Given the description of an element on the screen output the (x, y) to click on. 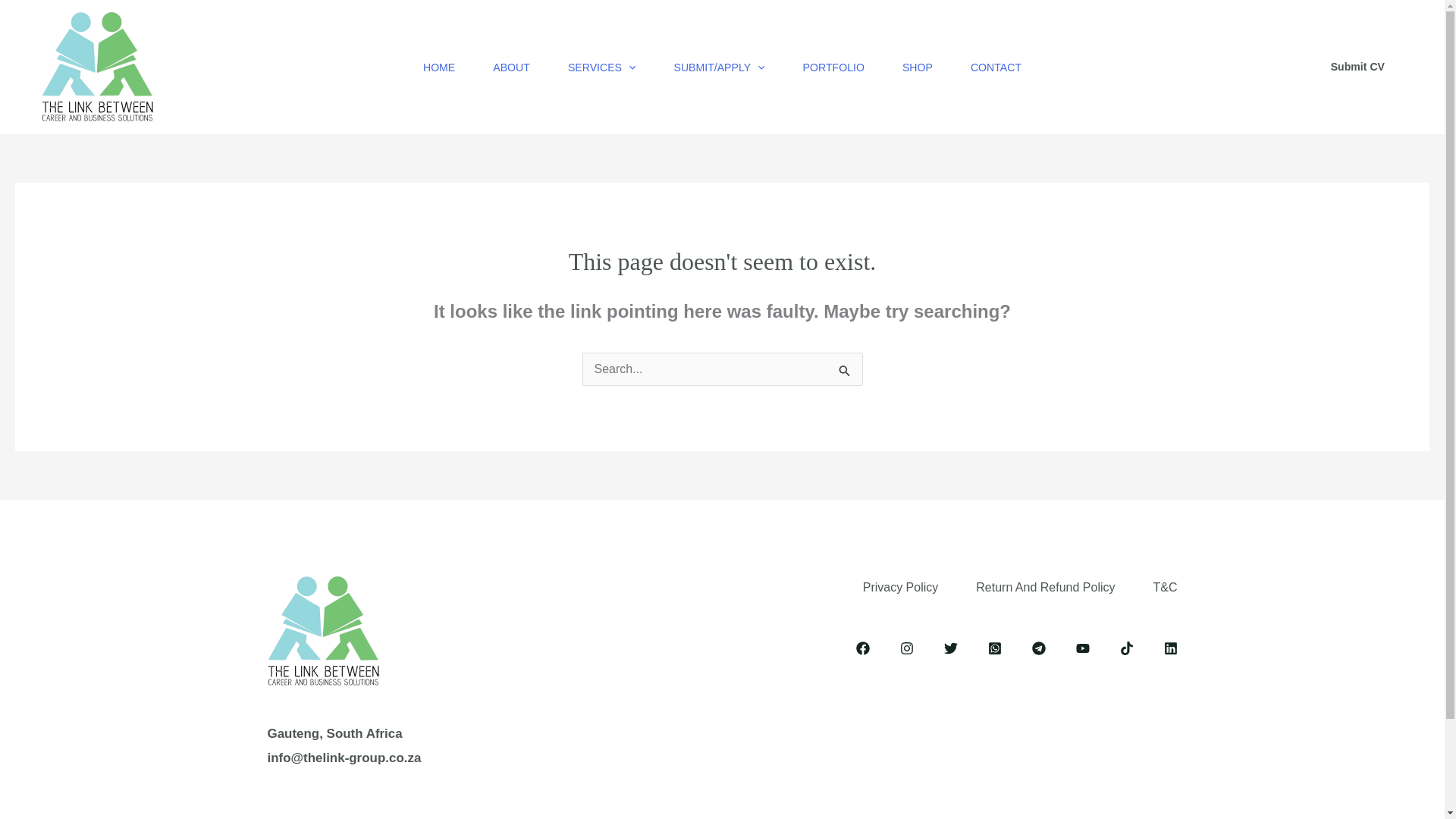
SERVICES (601, 66)
PORTFOLIO (833, 66)
Submit CV (1358, 66)
CONTACT (996, 66)
